Given the description of an element on the screen output the (x, y) to click on. 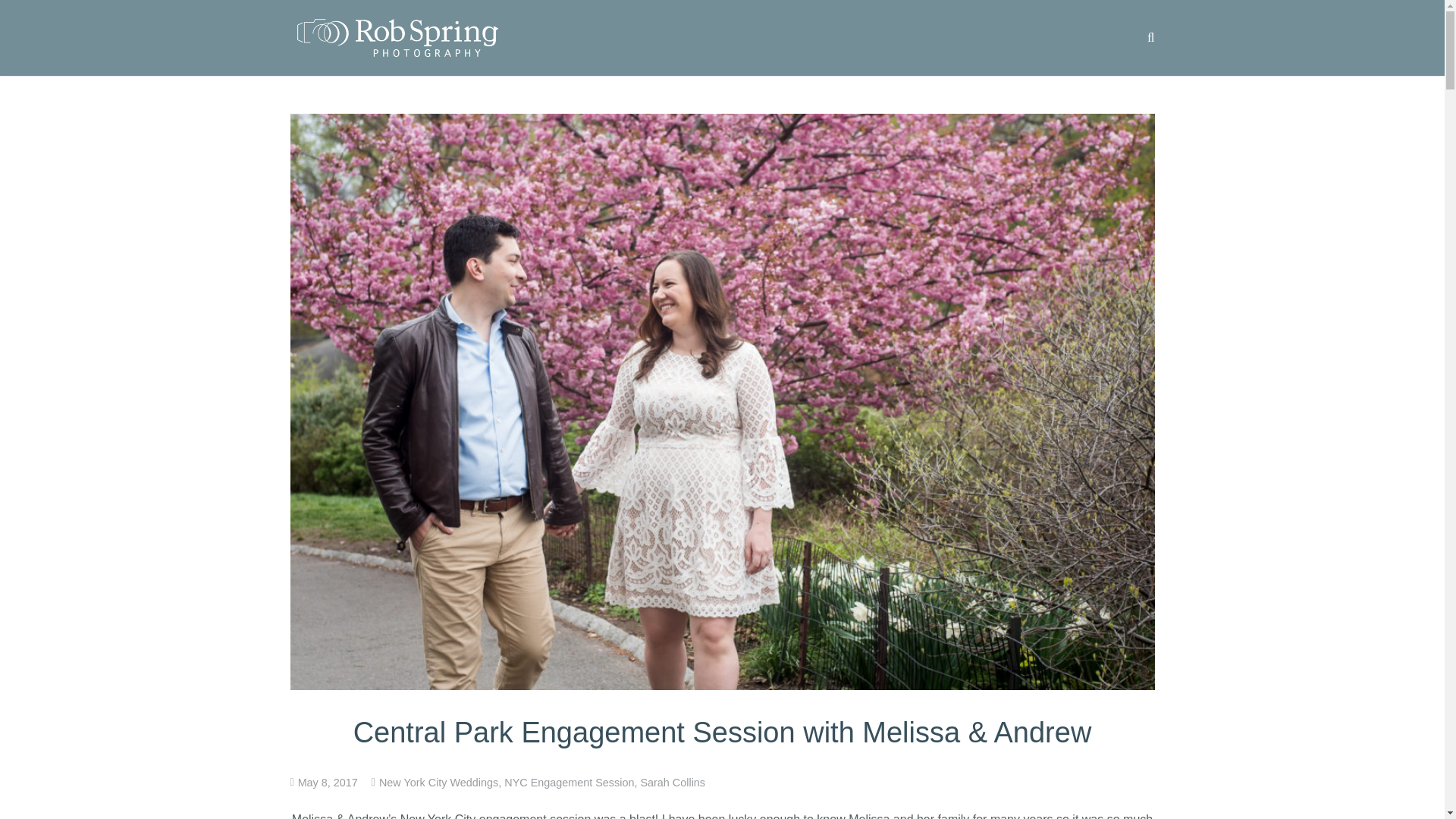
NYC Engagement Session (568, 782)
Sarah Collins (672, 782)
New York City Weddings (437, 782)
